Given the description of an element on the screen output the (x, y) to click on. 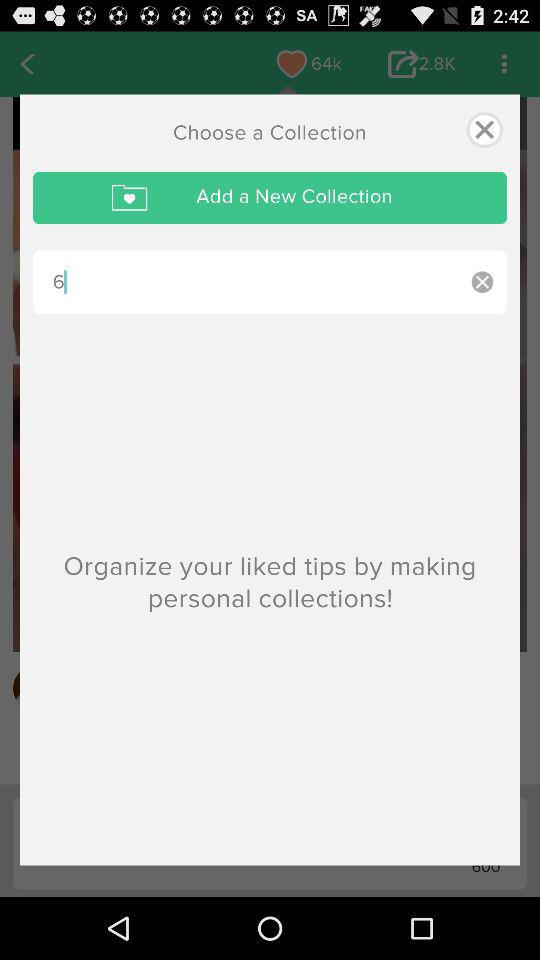
celar field (482, 281)
